Given the description of an element on the screen output the (x, y) to click on. 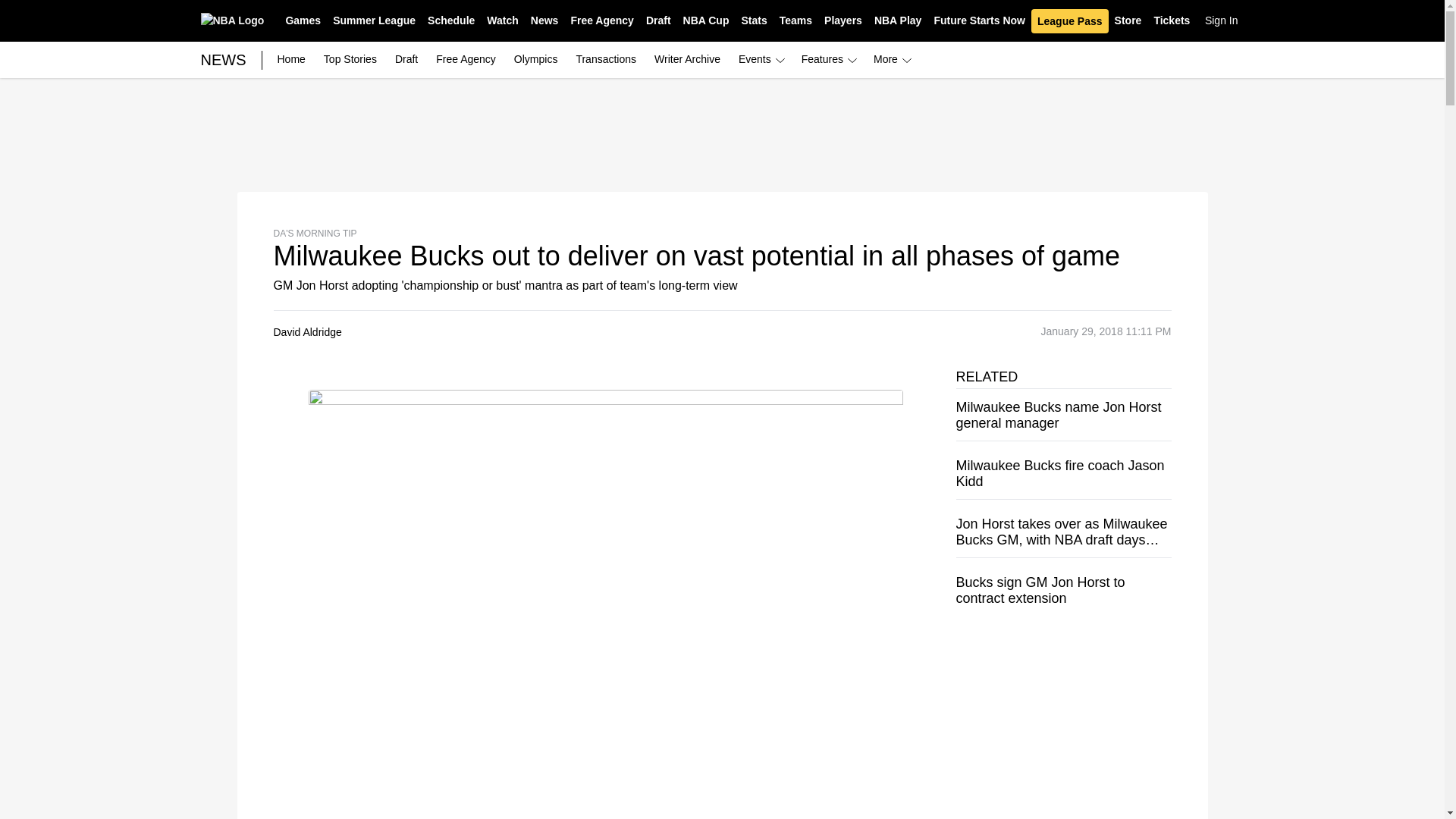
NBA Logo Homepage Button (231, 20)
Summer League (374, 20)
Free Agency (602, 20)
News (544, 20)
Draft (658, 20)
Games (302, 20)
Watch (502, 20)
NBA (231, 20)
NBA Cup (706, 20)
Schedule (451, 20)
Stats (754, 20)
